Given the description of an element on the screen output the (x, y) to click on. 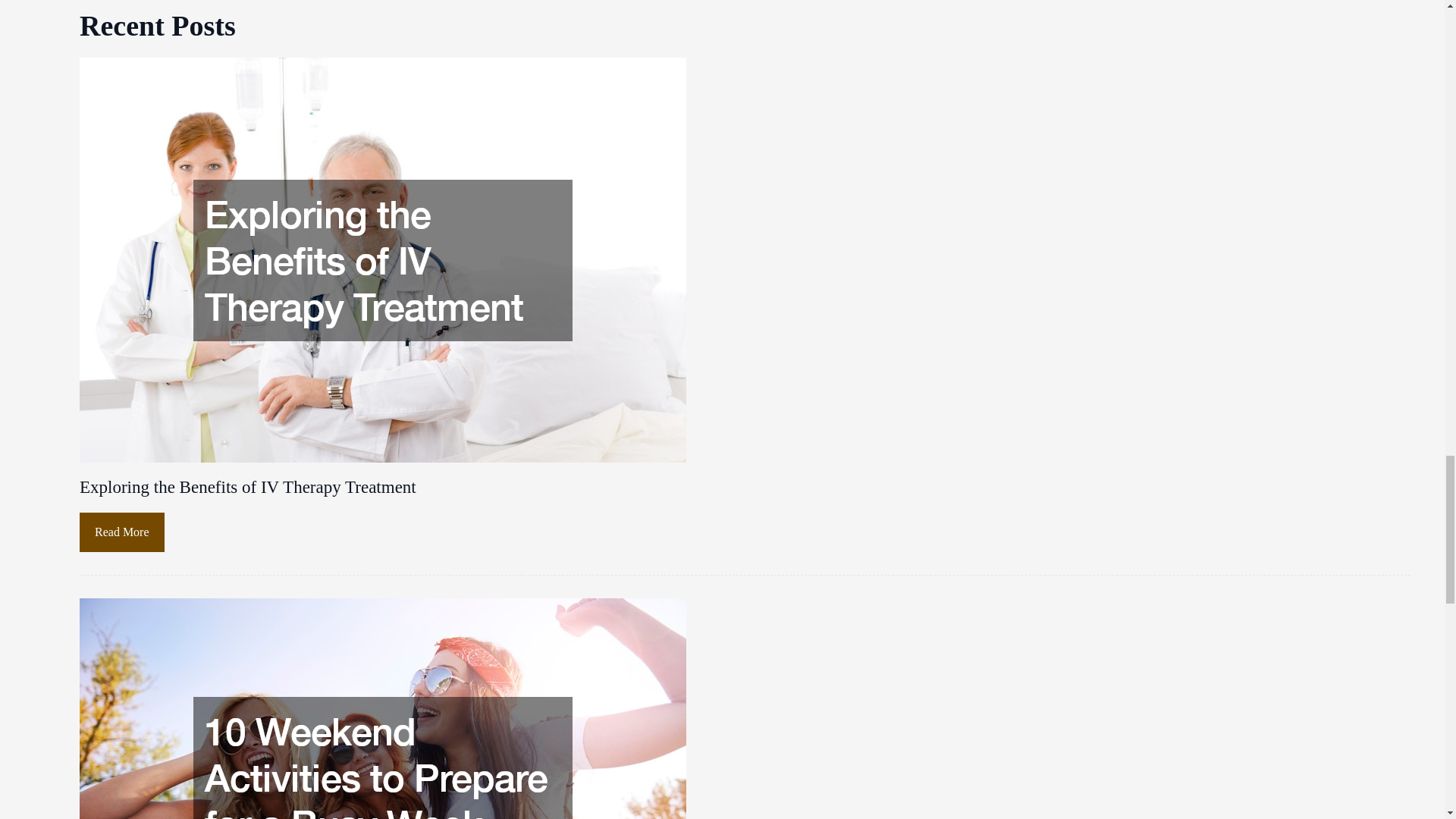
Exploring the Benefits of IV Therapy Treatment (248, 486)
Read More (122, 532)
